Given the description of an element on the screen output the (x, y) to click on. 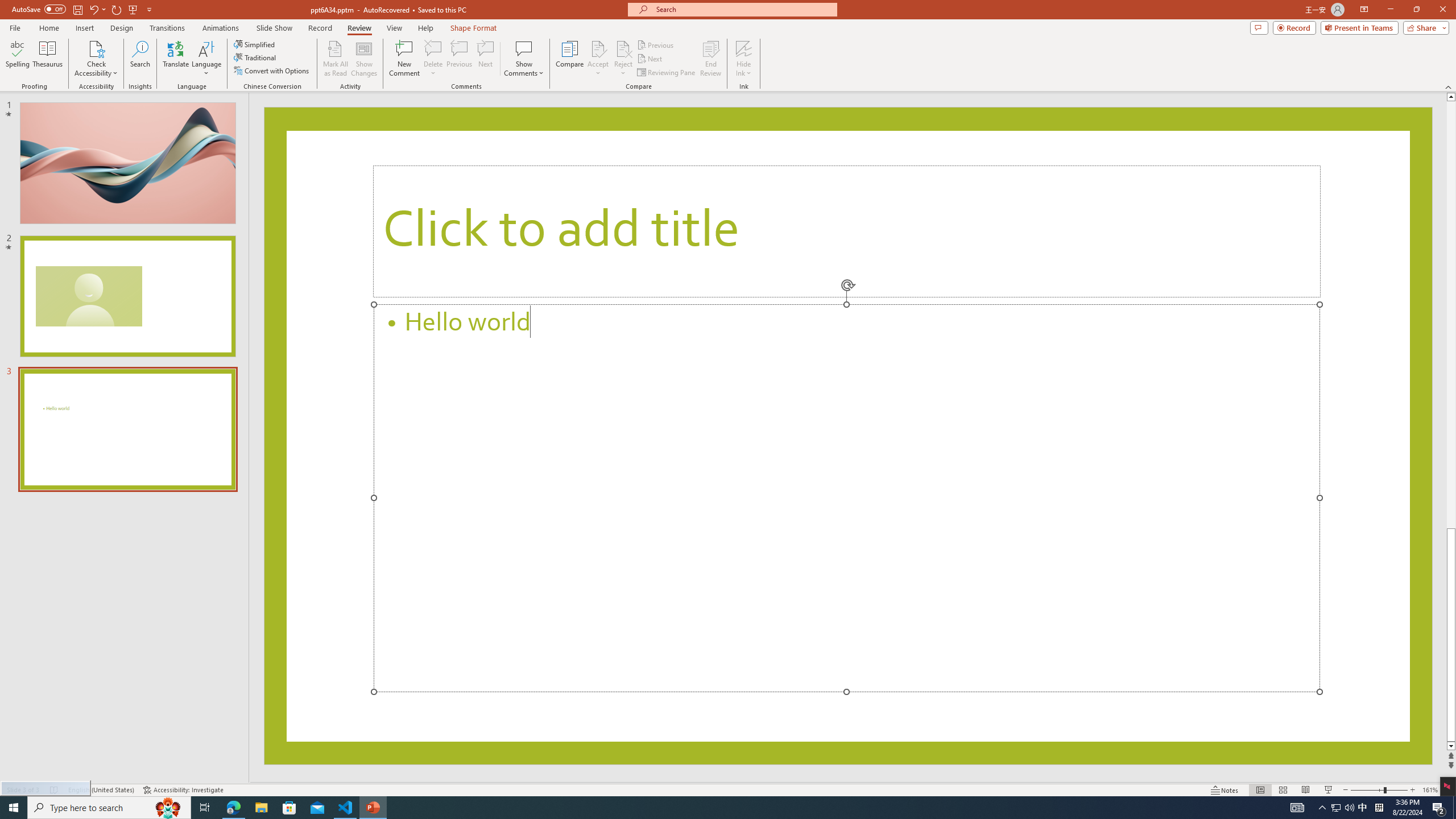
Thesaurus... (47, 58)
Record (320, 28)
Search (140, 58)
Reviewing Pane (666, 72)
Delete (432, 48)
Insert (83, 28)
Translate (175, 58)
Transitions (167, 28)
Home (48, 28)
End Review (710, 58)
Animations (220, 28)
Undo (92, 9)
Show Changes (363, 58)
Record (1294, 27)
